Given the description of an element on the screen output the (x, y) to click on. 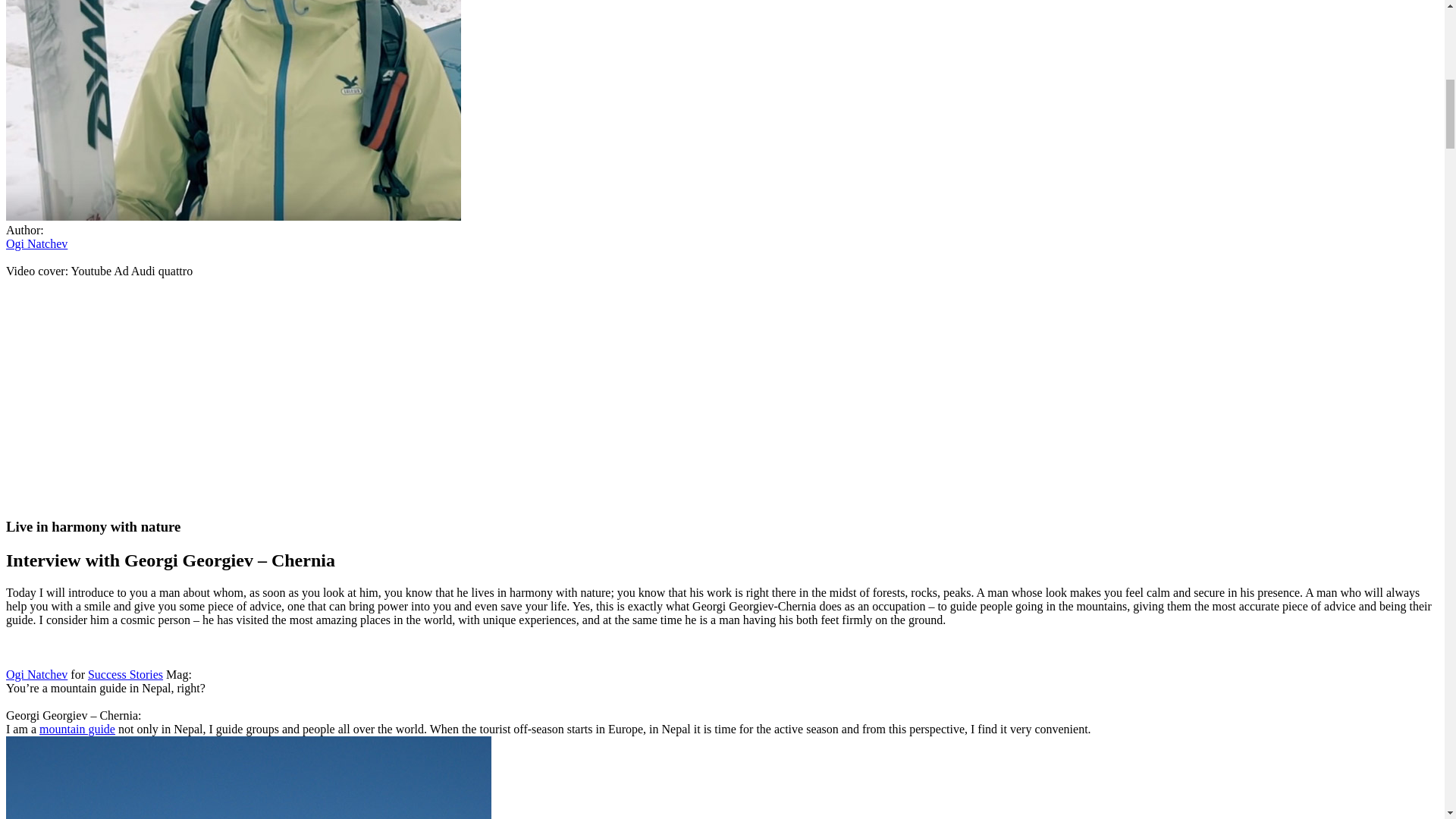
Ogi Natchev (35, 674)
Ogi Natchev (35, 243)
mountain guide (77, 728)
Success Stories (125, 674)
